Given the description of an element on the screen output the (x, y) to click on. 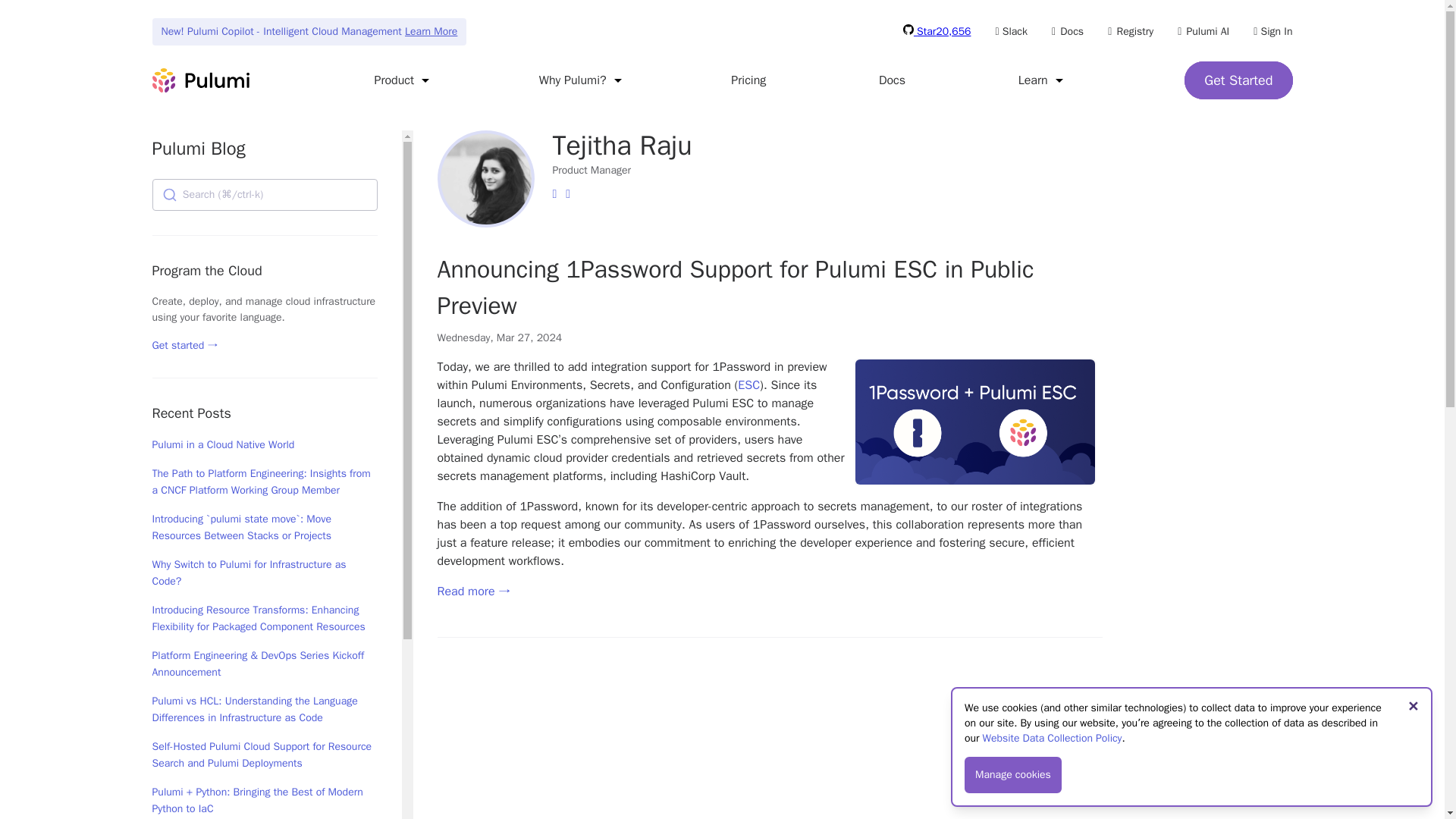
Pricing (748, 80)
Pulumi AI (1202, 31)
Docs (1067, 31)
Slack (1010, 31)
Get Started (1238, 80)
Registry (1130, 31)
Sign In (1272, 31)
Docs (891, 80)
